Given the description of an element on the screen output the (x, y) to click on. 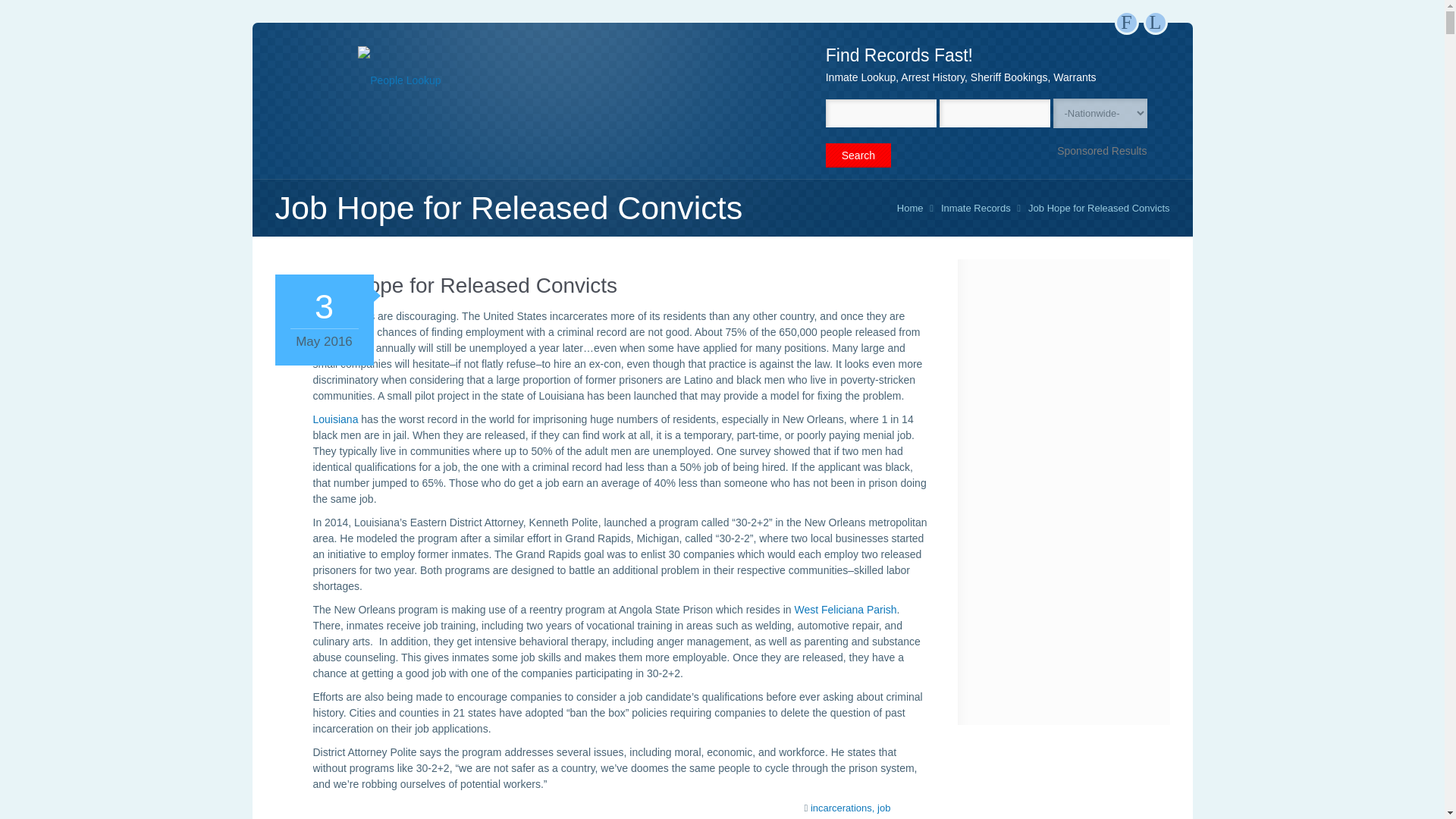
Search (858, 155)
F (1126, 22)
job applications, (846, 810)
Home (909, 207)
Job Hope for Released Convicts (1098, 207)
incarcerations, (842, 808)
Inmate Records (975, 207)
Search (858, 155)
Twitter (1154, 22)
People Lookup (398, 79)
